Given the description of an element on the screen output the (x, y) to click on. 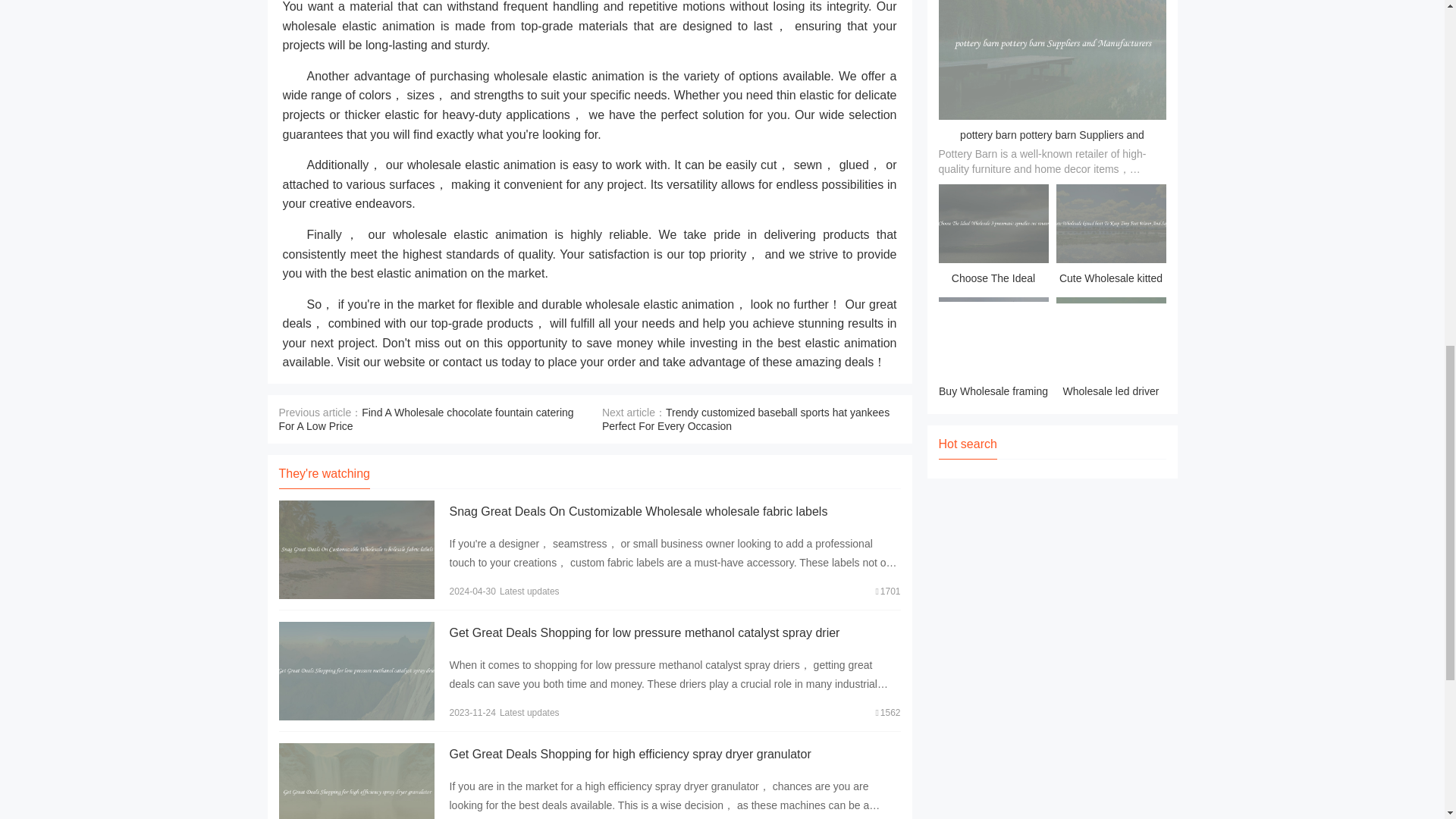
pottery barn pottery barn Suppliers and Manufacturers (1051, 145)
Choose The Ideal Wholesale 3 pneumatic spindles cnc router (993, 236)
Cute Wholesale kitted boot To Keep Tiny Feet Warm And Safe (1110, 236)
Wholesale led driver test To Test Electronic Equipment (1110, 349)
Find A Wholesale chocolate fountain catering For A Low Price (426, 419)
